Given the description of an element on the screen output the (x, y) to click on. 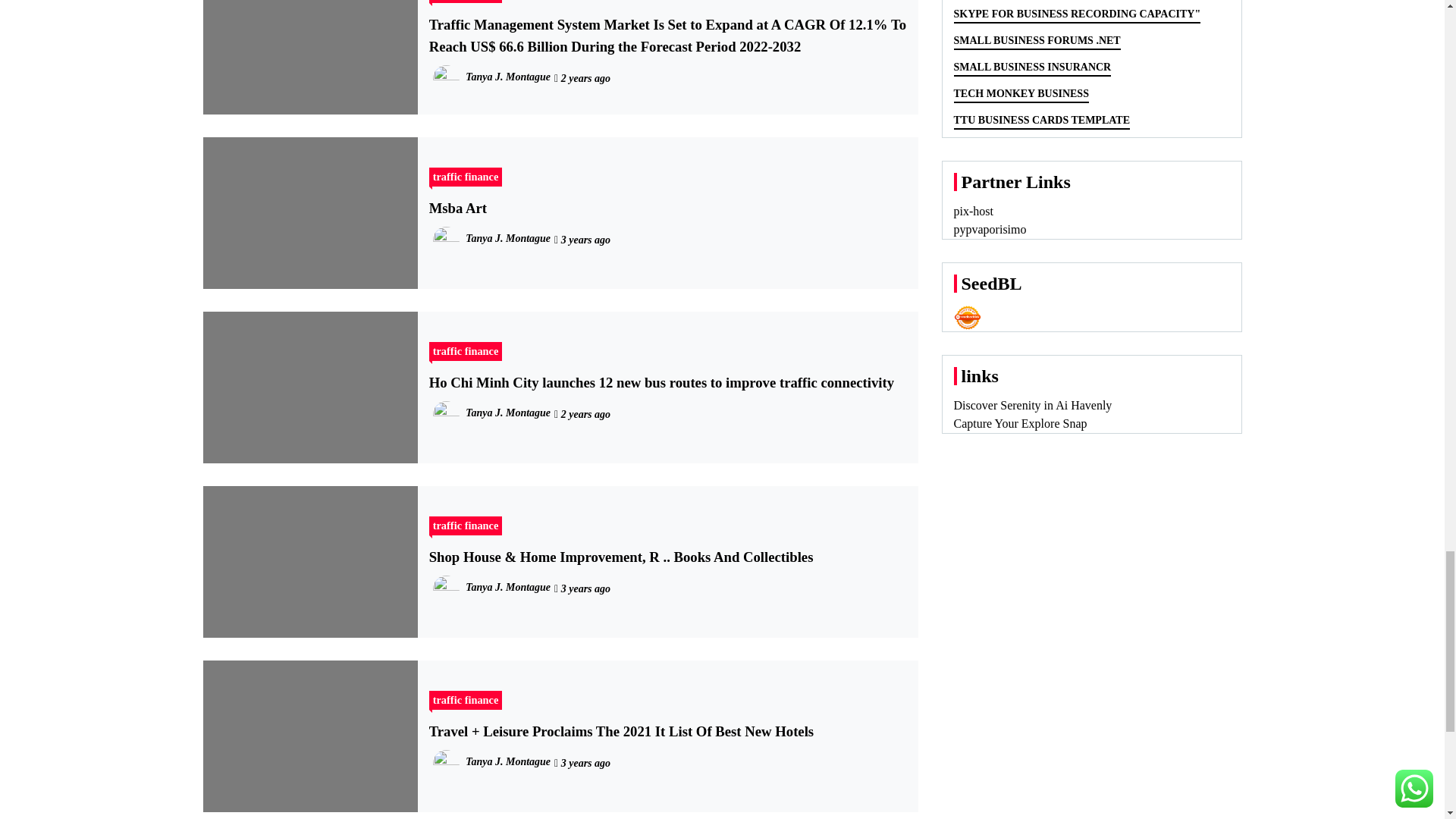
Seedbacklink (967, 317)
